Given the description of an element on the screen output the (x, y) to click on. 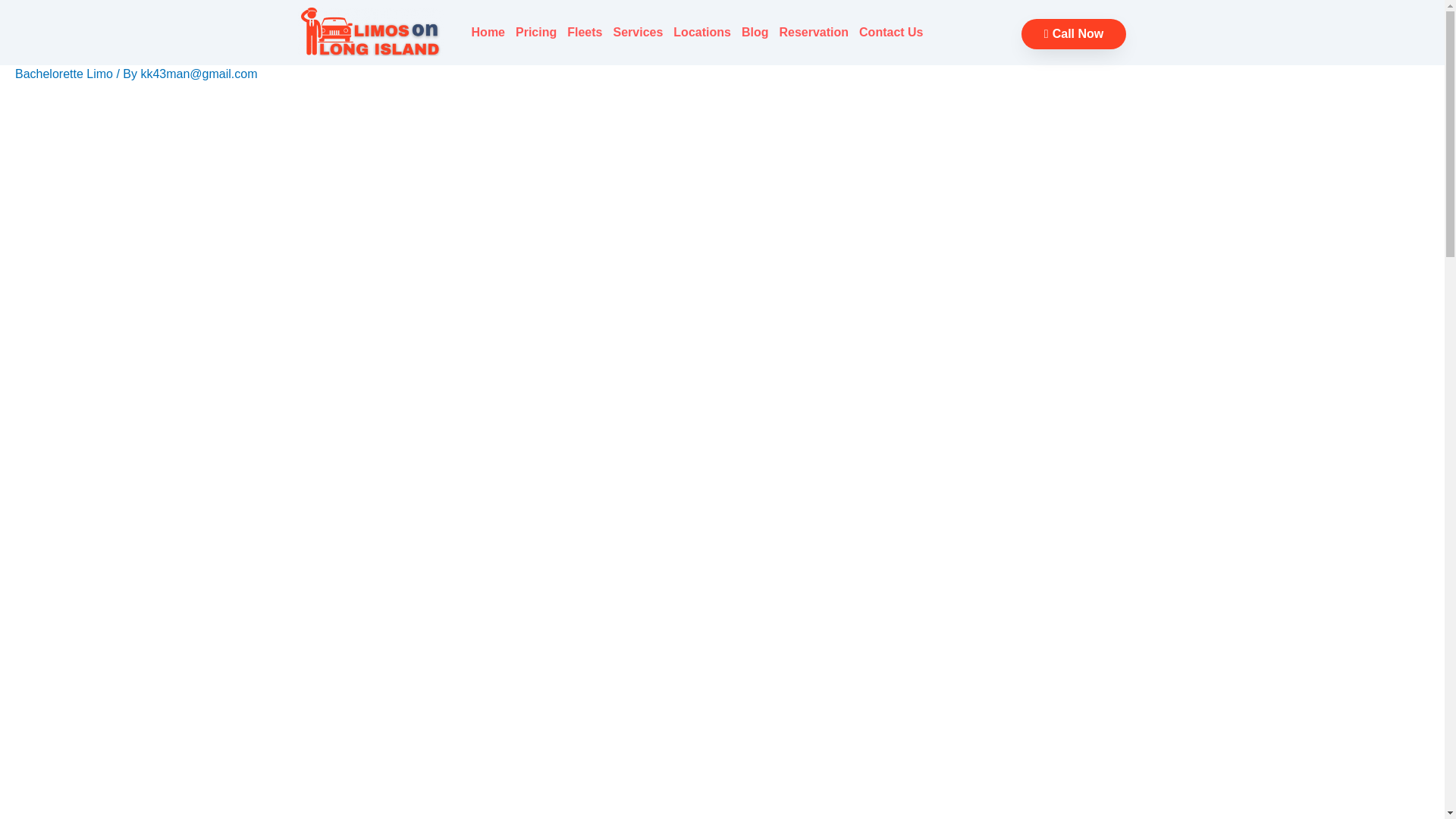
Home (488, 32)
Fleets (584, 32)
Services (638, 32)
Locations (702, 32)
Pricing (536, 32)
Contact Us (890, 32)
Blog (755, 32)
Reservation (813, 32)
